Given the description of an element on the screen output the (x, y) to click on. 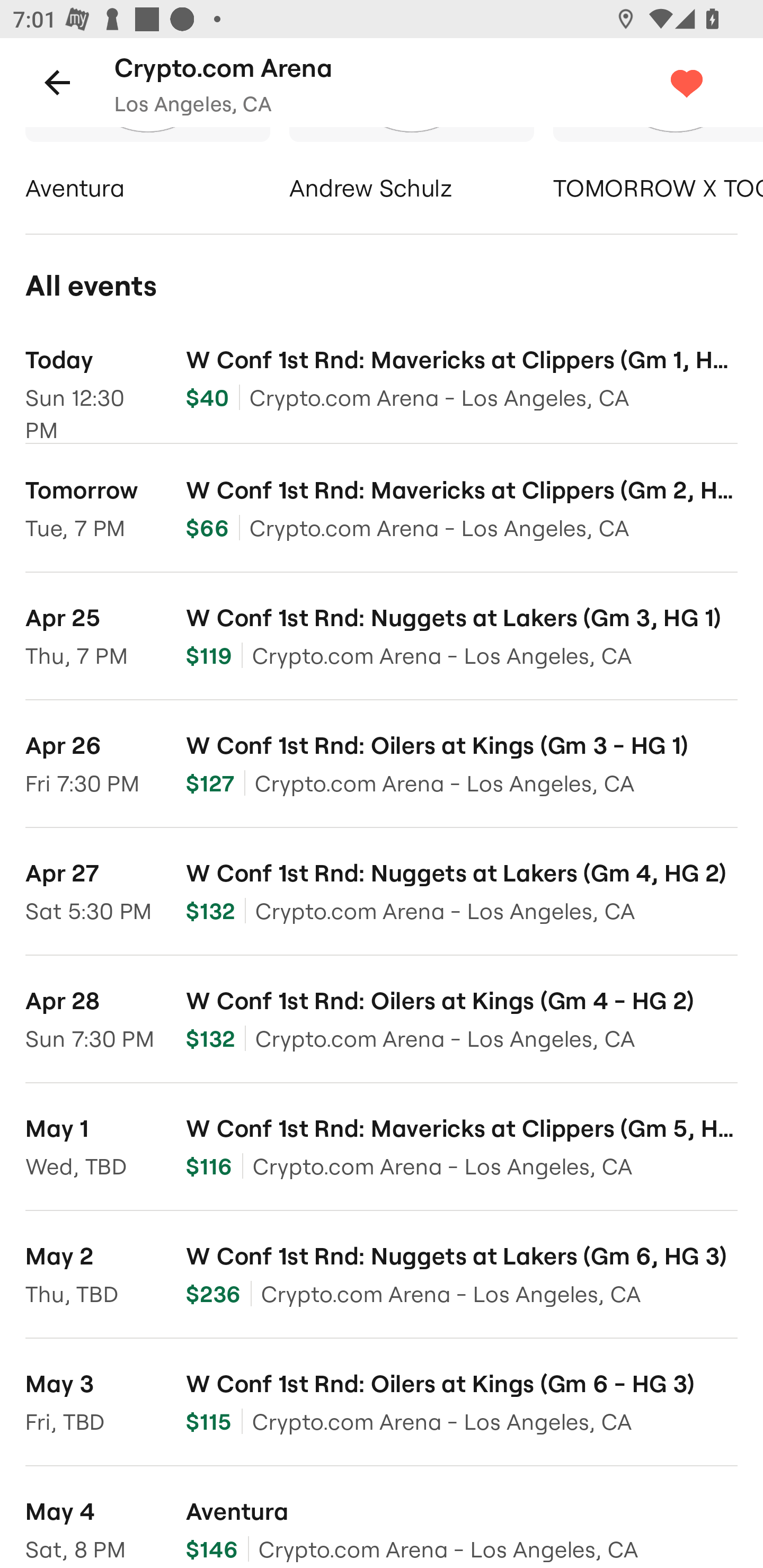
Back (57, 81)
Tracking (705, 81)
Aventura (147, 167)
Andrew Schulz (411, 167)
TOMORROW X TOGETHER (658, 167)
